Given the description of an element on the screen output the (x, y) to click on. 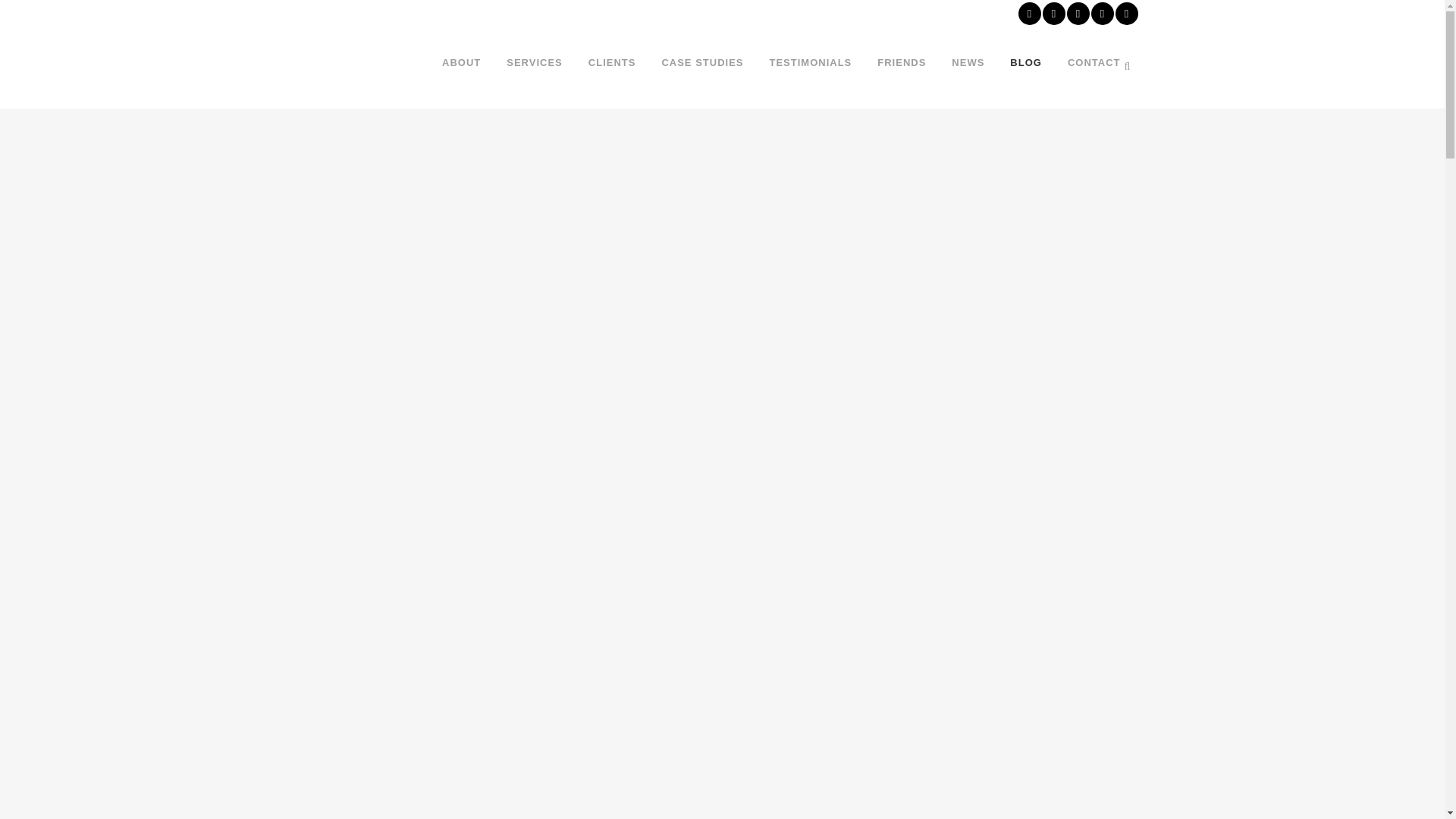
FRIENDS (901, 62)
CLIENTS (612, 62)
CASE STUDIES (701, 62)
SERVICES (534, 62)
CONTACT (1094, 62)
TESTIMONIALS (810, 62)
